Given the description of an element on the screen output the (x, y) to click on. 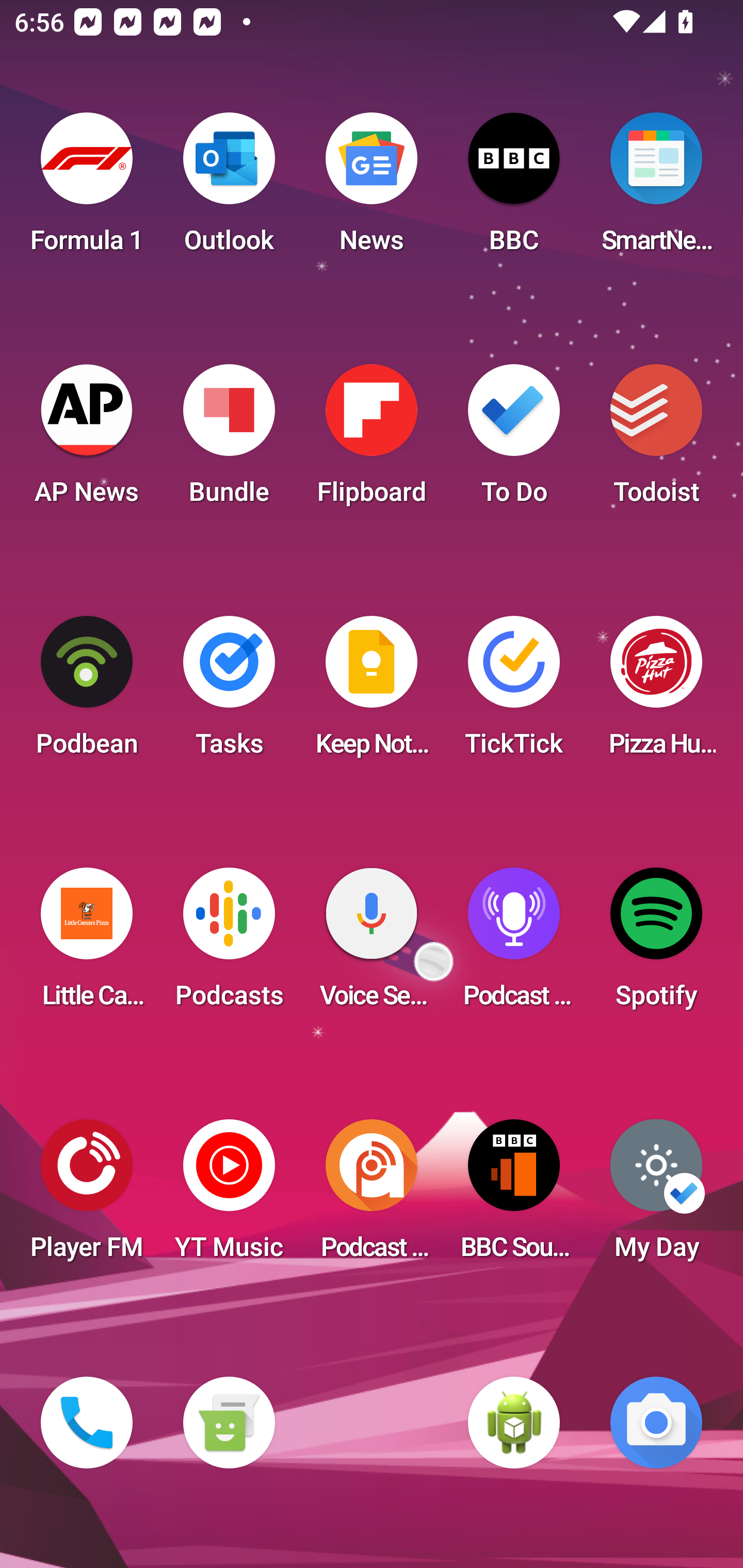
Formula 1 (86, 188)
Outlook (228, 188)
News (371, 188)
BBC (513, 188)
SmartNews (656, 188)
AP News (86, 440)
Bundle (228, 440)
Flipboard (371, 440)
To Do (513, 440)
Todoist (656, 440)
Podbean (86, 692)
Tasks (228, 692)
Keep Notes (371, 692)
TickTick (513, 692)
Pizza Hut HK & Macau (656, 692)
Little Caesars Pizza (86, 943)
Podcasts (228, 943)
Voice Search (371, 943)
Podcast Player (513, 943)
Spotify (656, 943)
Player FM (86, 1195)
YT Music (228, 1195)
Podcast Addict (371, 1195)
BBC Sounds (513, 1195)
My Day (656, 1195)
Phone (86, 1422)
Messaging (228, 1422)
WebView Browser Tester (513, 1422)
Camera (656, 1422)
